Given the description of an element on the screen output the (x, y) to click on. 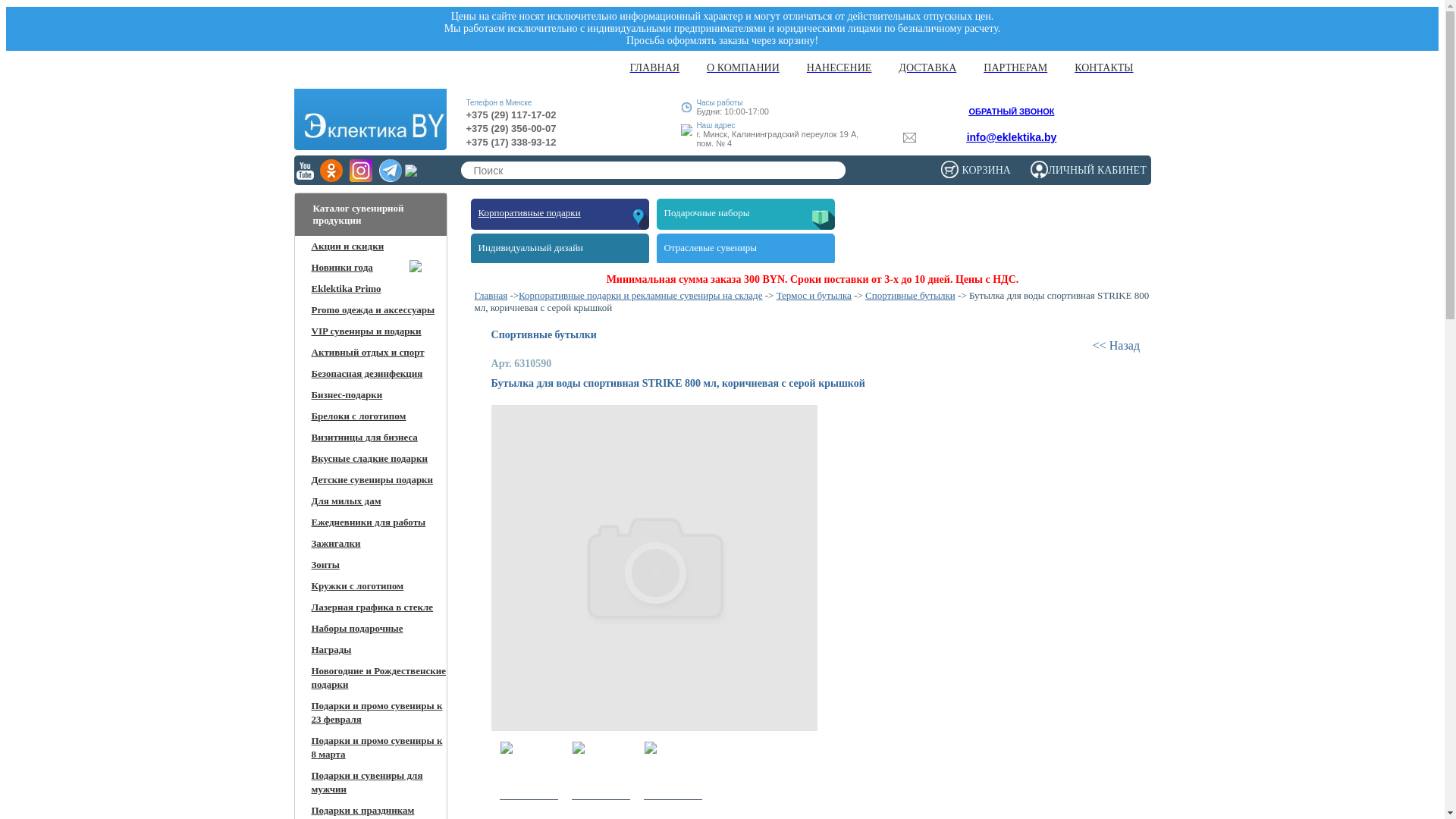
info@eklektika.by Element type: text (1005, 136)
Eklektika Primo Element type: text (345, 288)
info@eklektika.by Element type: text (1011, 137)
